Given the description of an element on the screen output the (x, y) to click on. 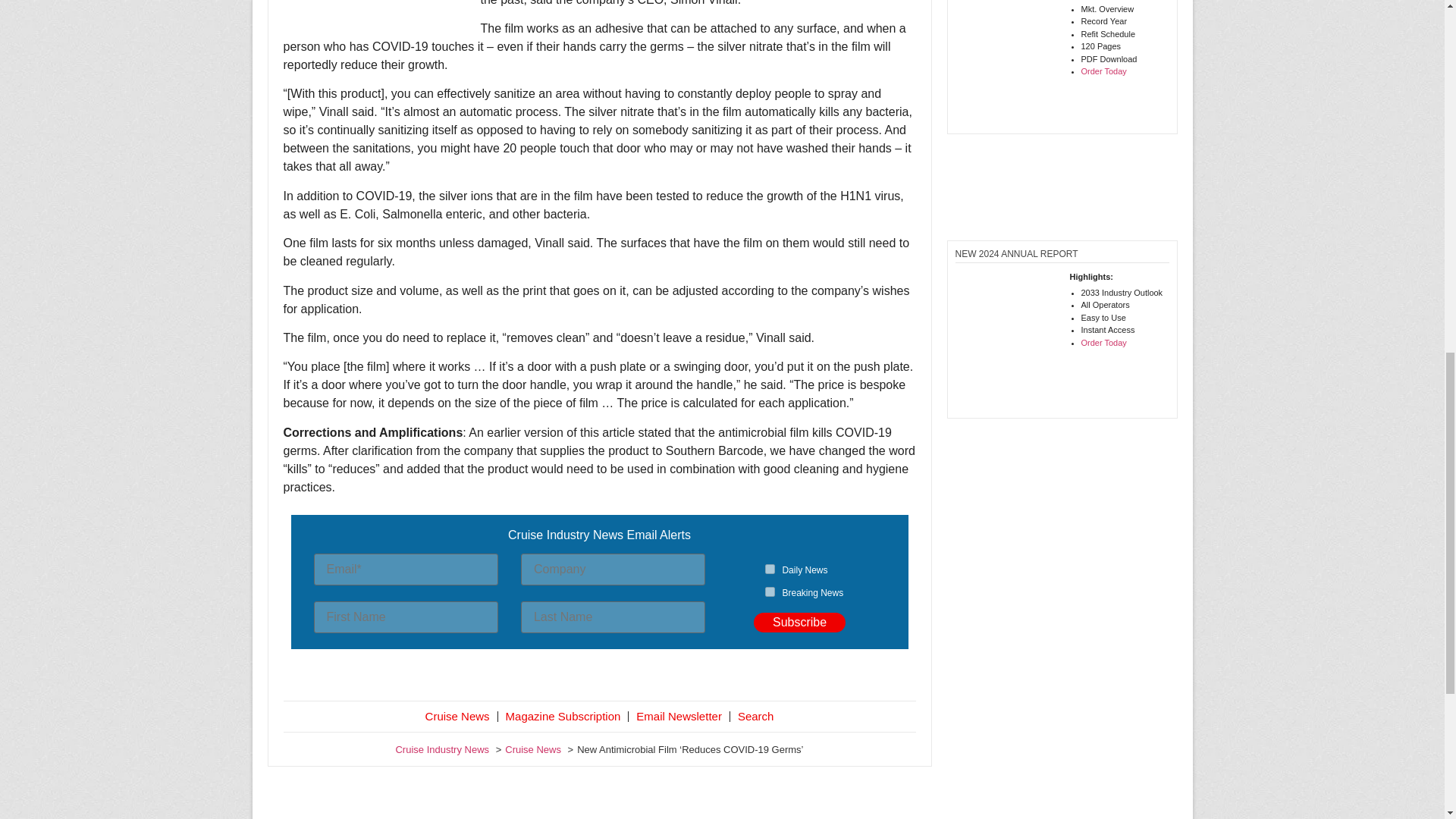
1 (769, 569)
Subscribe (799, 622)
2 (769, 592)
